Given the description of an element on the screen output the (x, y) to click on. 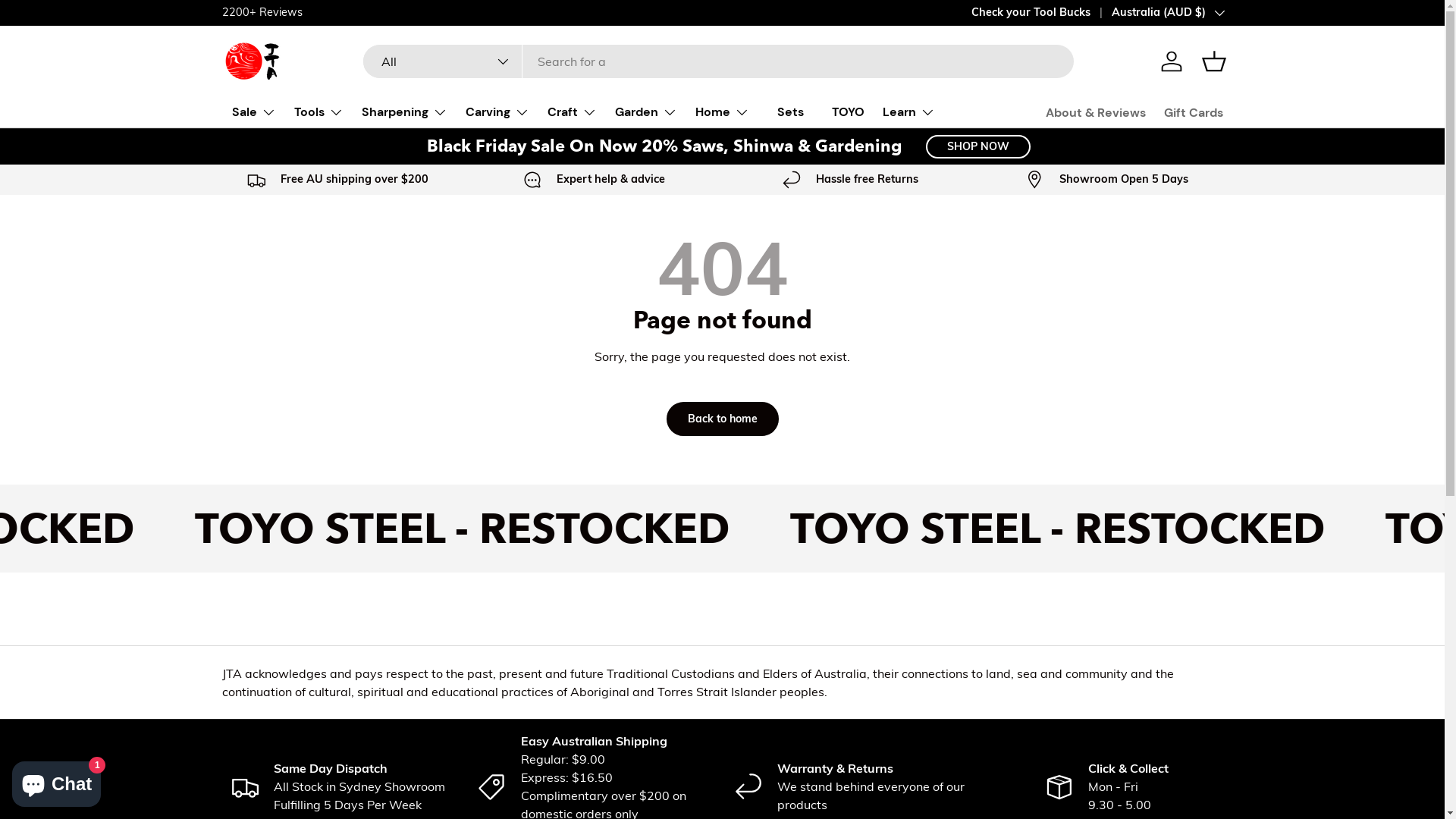
Skip to content Element type: text (68, 21)
Garden Element type: text (645, 112)
Expert help & advice Element type: text (593, 179)
Basket Element type: text (1213, 61)
Back to home Element type: text (721, 418)
Learn Element type: text (908, 112)
Carving Element type: text (497, 112)
Australia (AUD $) Element type: text (1167, 12)
Showroom Open 5 Days Element type: text (1106, 179)
All Element type: text (442, 61)
Gift Cards Element type: text (1192, 112)
Free AU shipping over $200 Element type: text (337, 179)
SHOP NOW Element type: text (977, 146)
Tools Element type: text (318, 112)
Home Element type: text (721, 112)
Hassle free Returns Element type: text (850, 179)
Sharpening Element type: text (403, 112)
About & Reviews Element type: text (1094, 112)
Log in Element type: text (1170, 61)
Shopify online store chat Element type: hover (56, 780)
Craft Element type: text (571, 112)
